Given the description of an element on the screen output the (x, y) to click on. 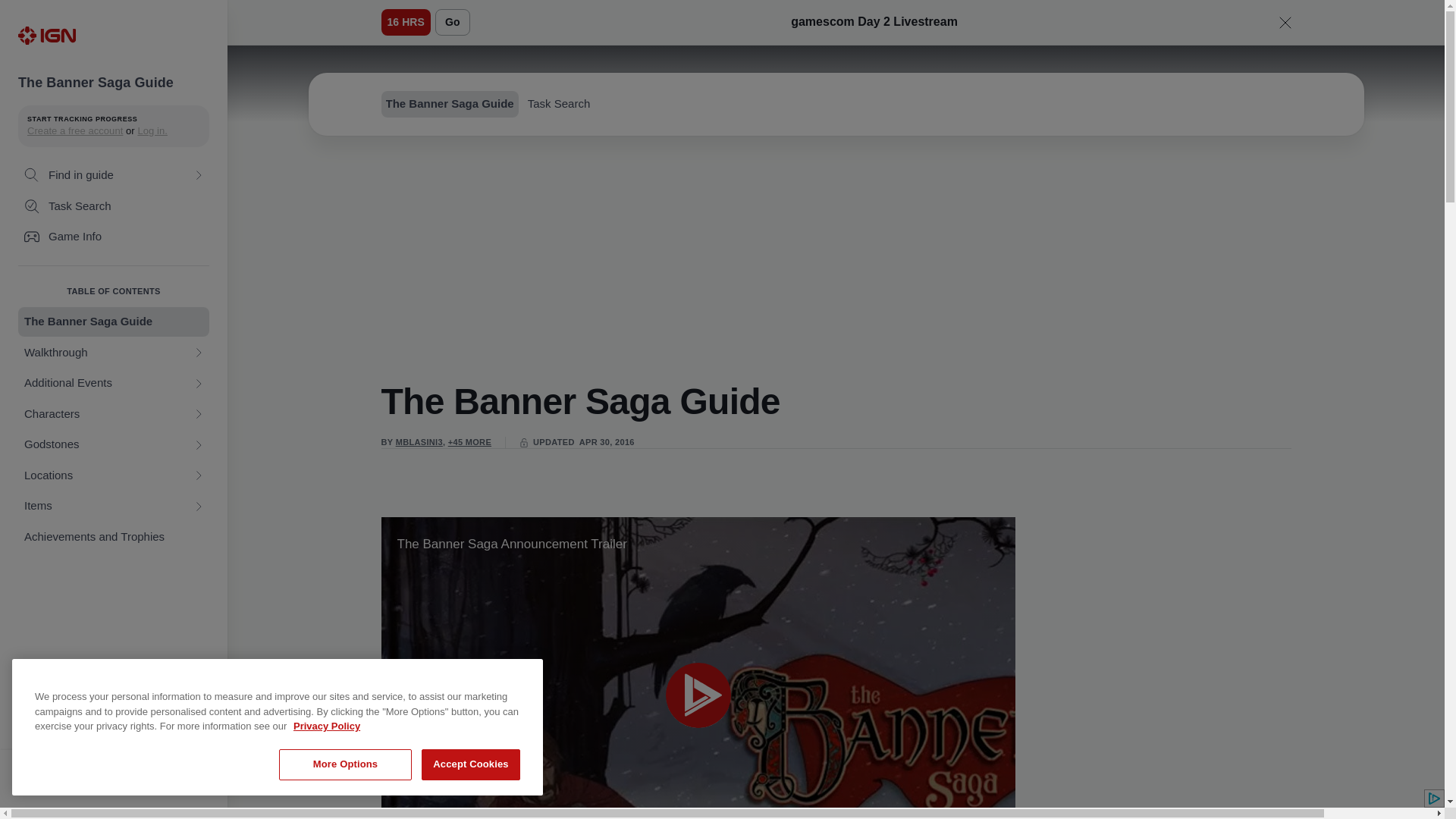
Locations (113, 475)
Characters (113, 414)
Walkthrough (113, 352)
Characters (113, 414)
Walkthrough (113, 352)
Log in. (151, 130)
Task Search (113, 206)
Find in guide (113, 175)
Godstones (113, 444)
Achievements and Trophies (113, 537)
